Given the description of an element on the screen output the (x, y) to click on. 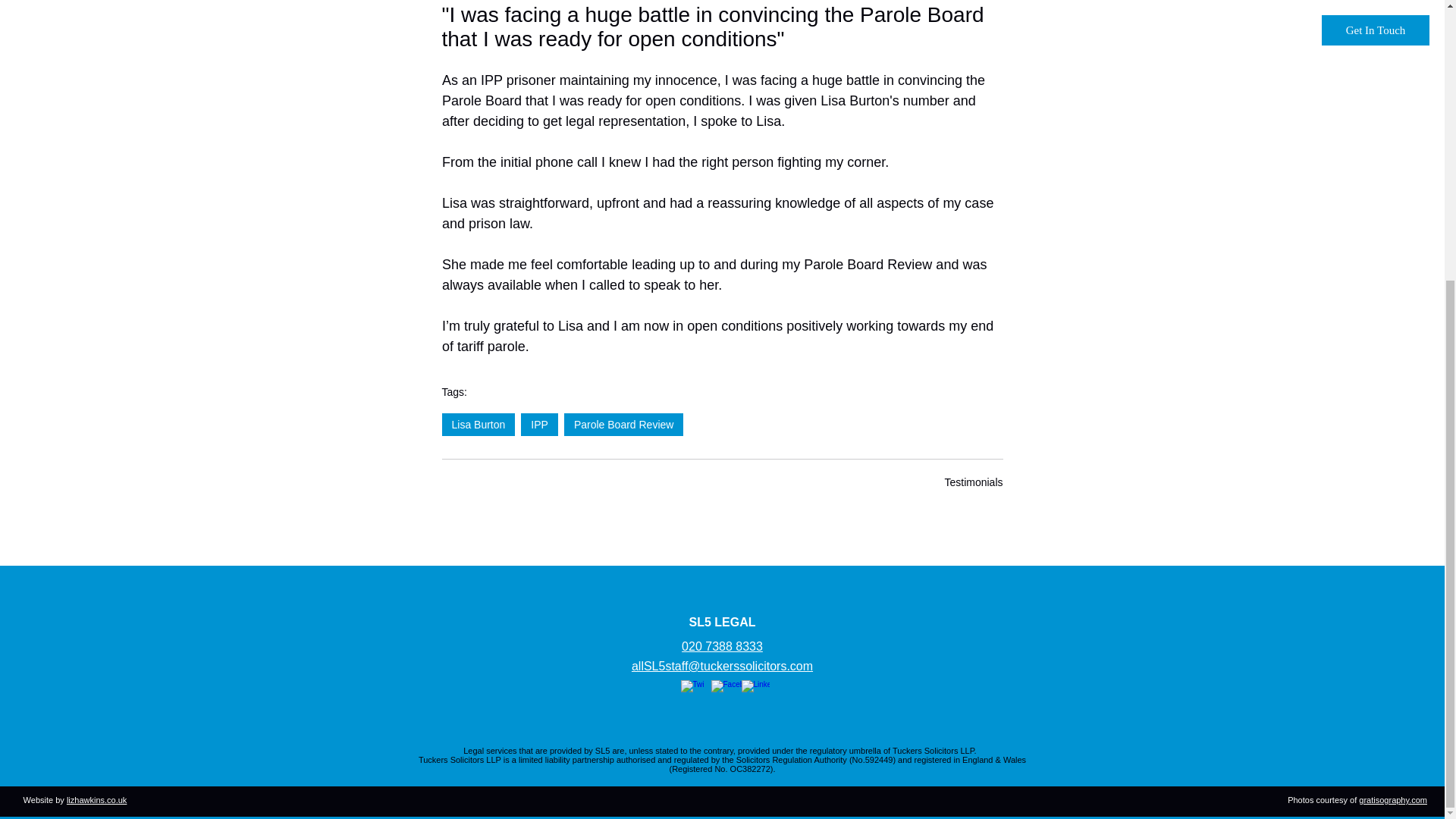
lizhawkins.co.uk (96, 799)
Testimonials (973, 481)
gratisography.com (1392, 799)
Parole Board Review (624, 424)
020 7388 8333 (721, 645)
Lisa Burton (478, 424)
IPP (539, 424)
